Given the description of an element on the screen output the (x, y) to click on. 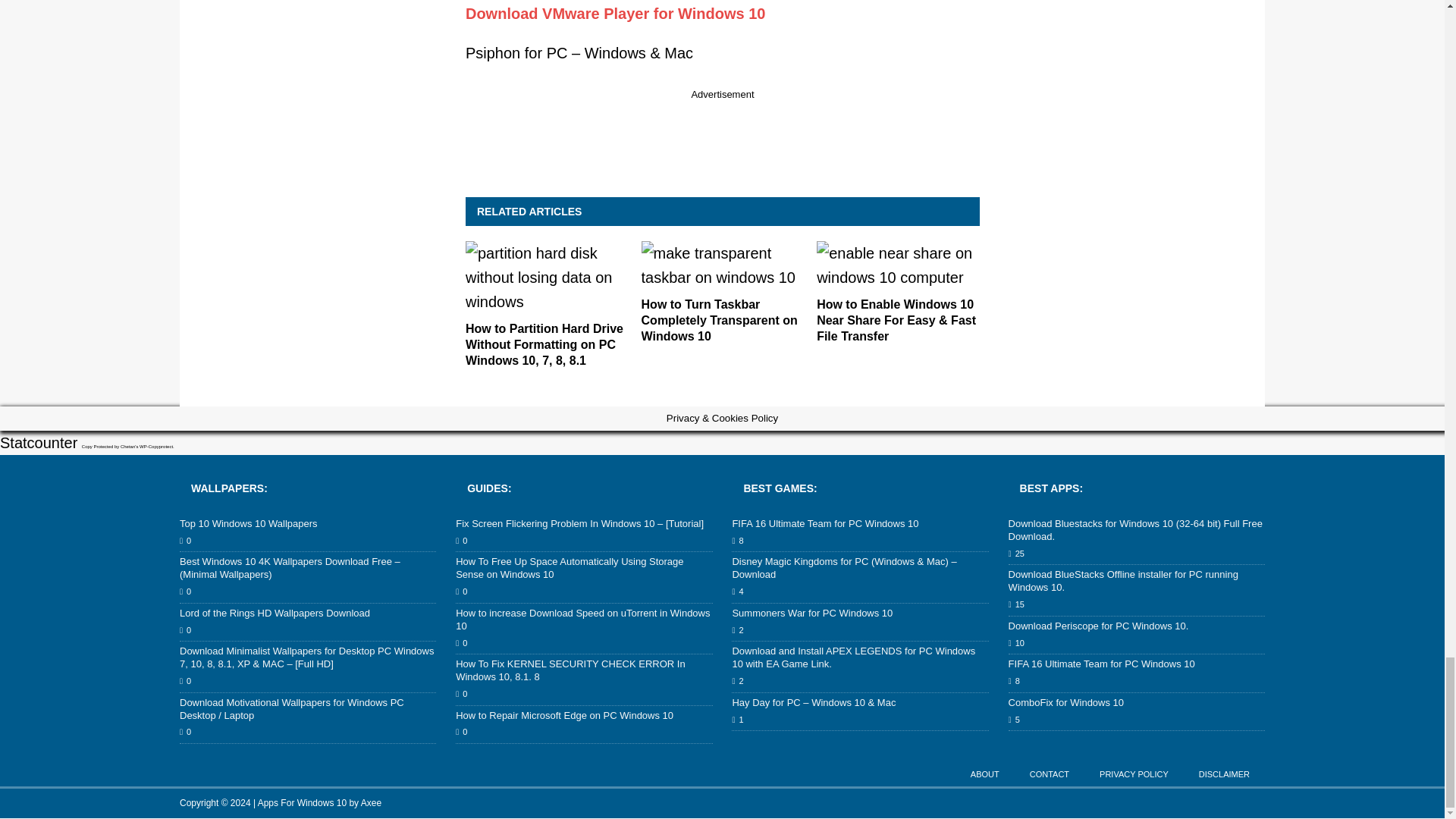
Top 10 Windows 10 Wallpapers (248, 523)
How to increase Download Speed on uTorrent in Windows 10 (582, 619)
Lord of the Rings HD Wallpapers Download (274, 613)
How to Turn Taskbar Completely Transparent on Windows 10 (719, 320)
How to Turn Taskbar Completely Transparent on Windows 10 (723, 277)
How To Fix KERNEL SECURITY CHECK ERROR In Windows 10, 8.1. 8 (569, 670)
